Given the description of an element on the screen output the (x, y) to click on. 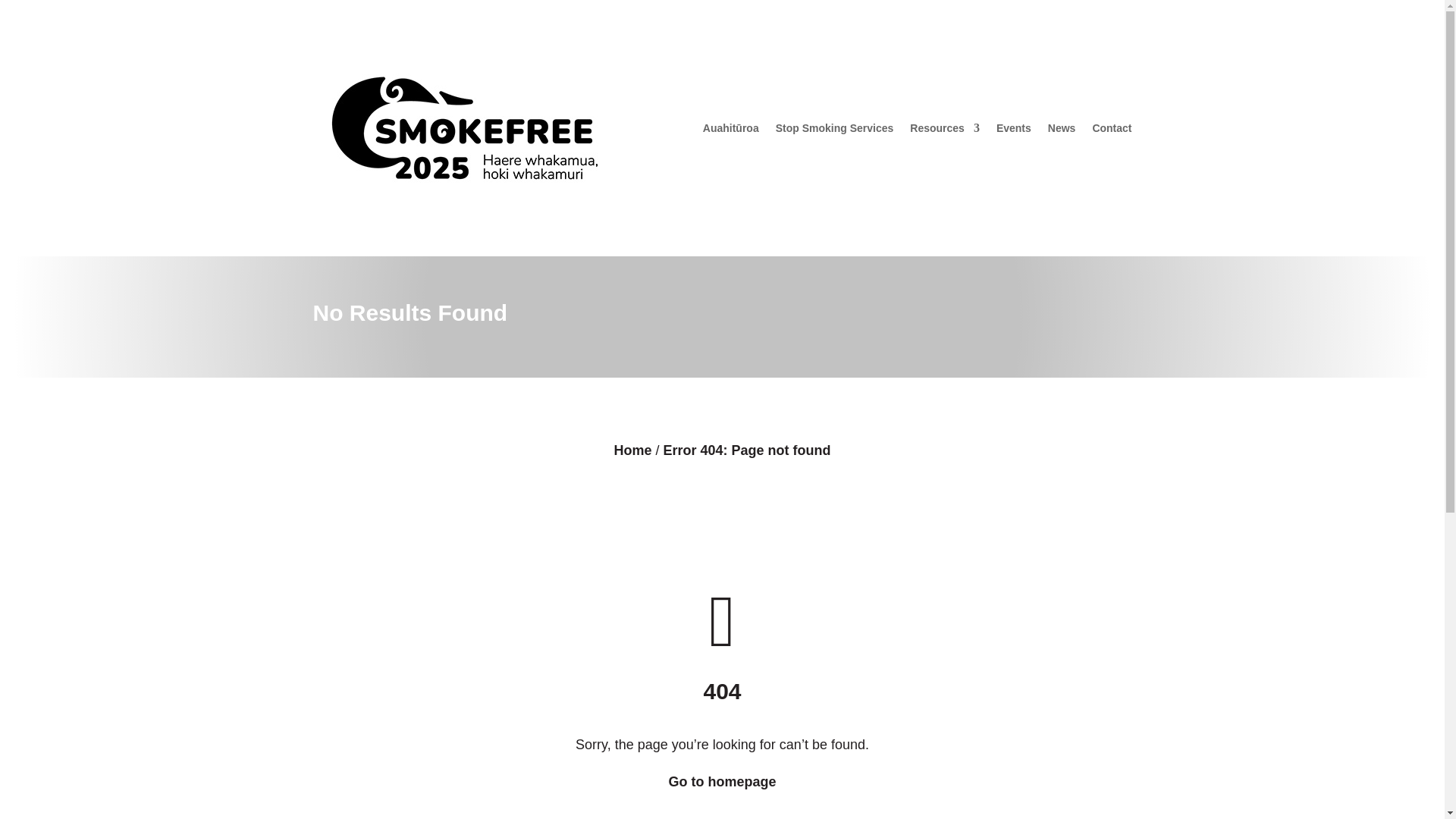
Home (631, 450)
Go to homepage (722, 781)
